Given the description of an element on the screen output the (x, y) to click on. 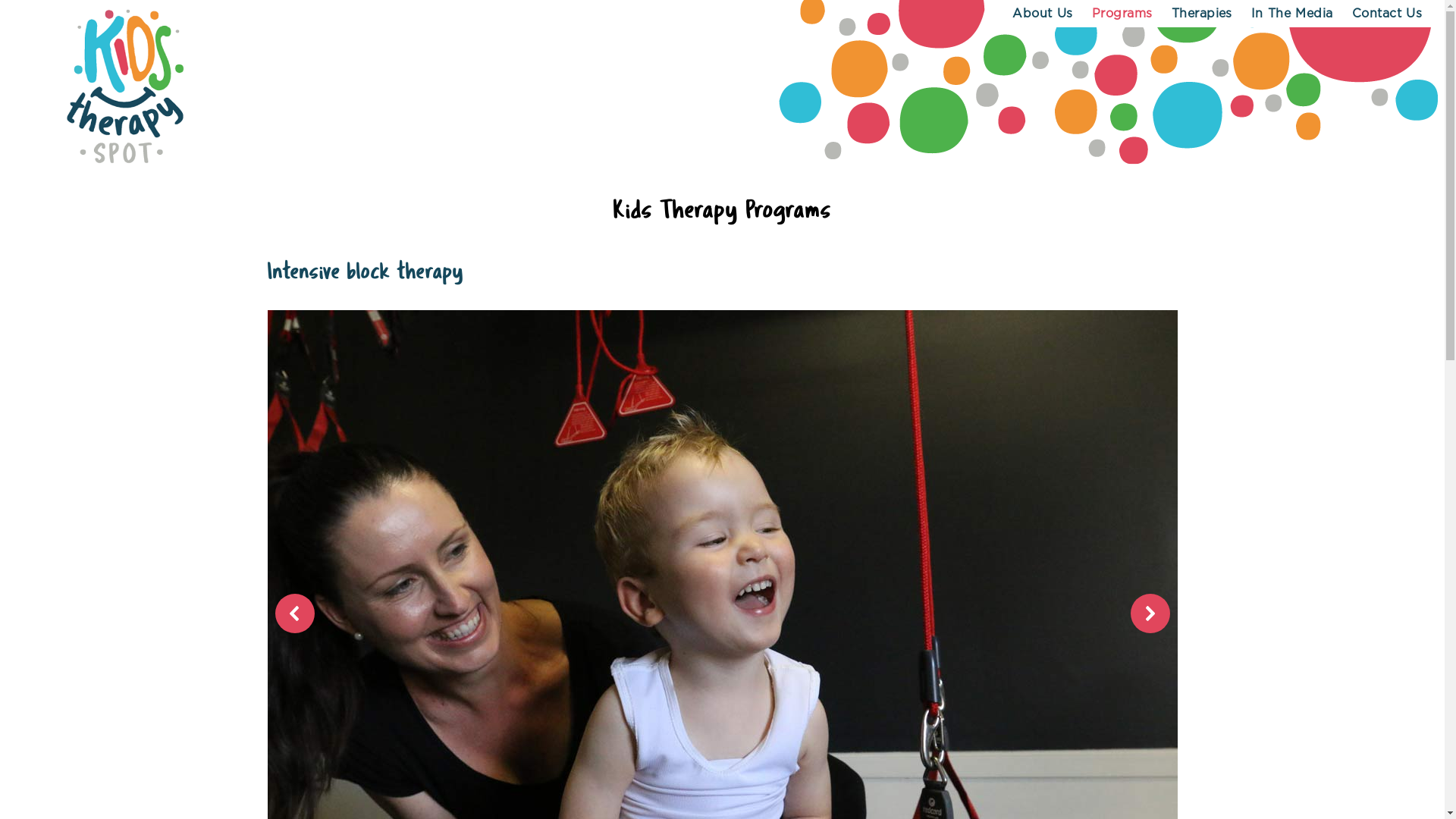
About Us Element type: text (1041, 13)
Therapies Element type: text (1201, 13)
In The Media Element type: text (1291, 13)
Programs Element type: text (1122, 13)
Contact Us Element type: text (1386, 13)
Skip to main content Element type: text (0, 0)
